Given the description of an element on the screen output the (x, y) to click on. 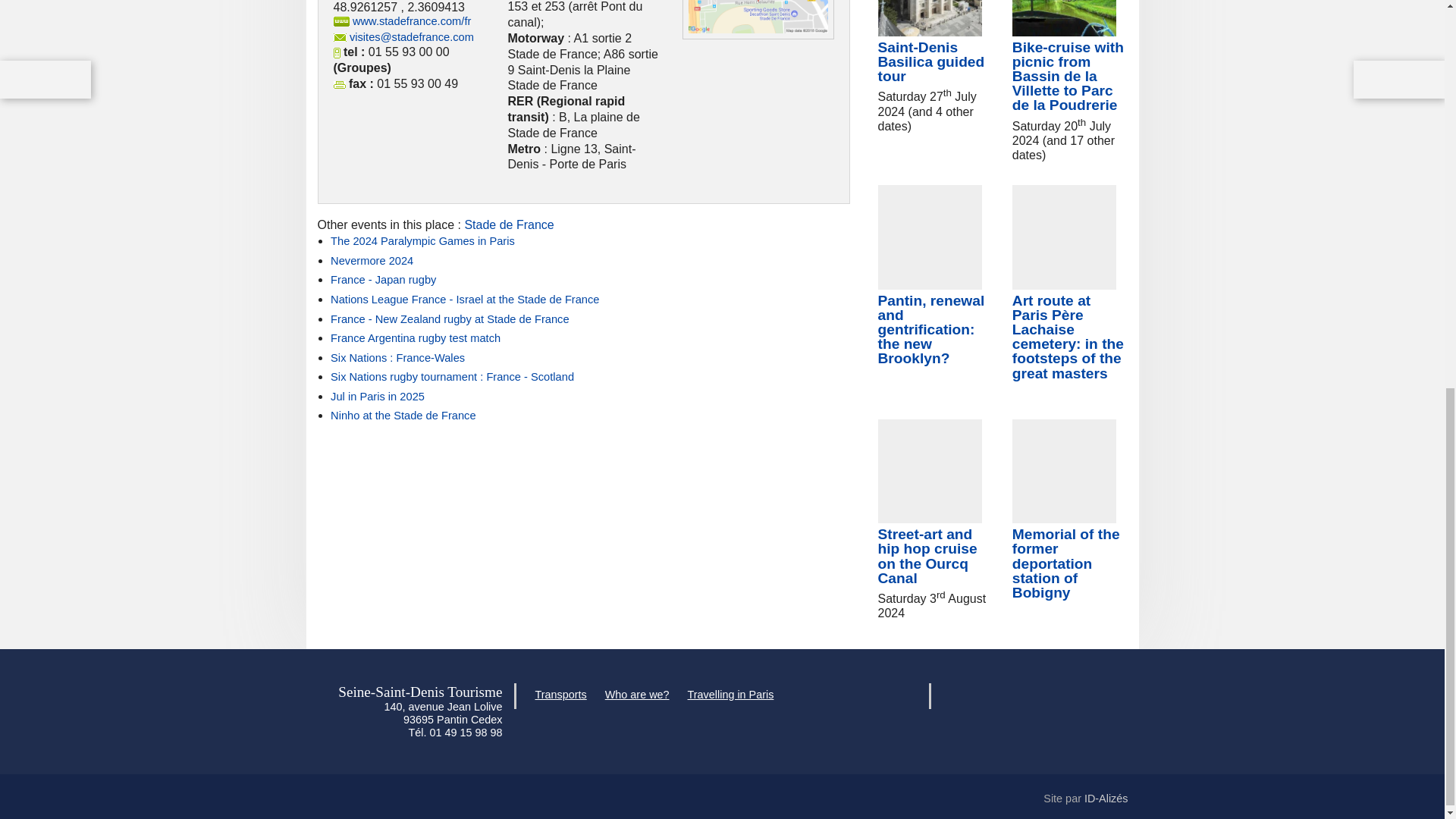
48.9261257 (365, 6)
2.3609413 (435, 6)
